Given the description of an element on the screen output the (x, y) to click on. 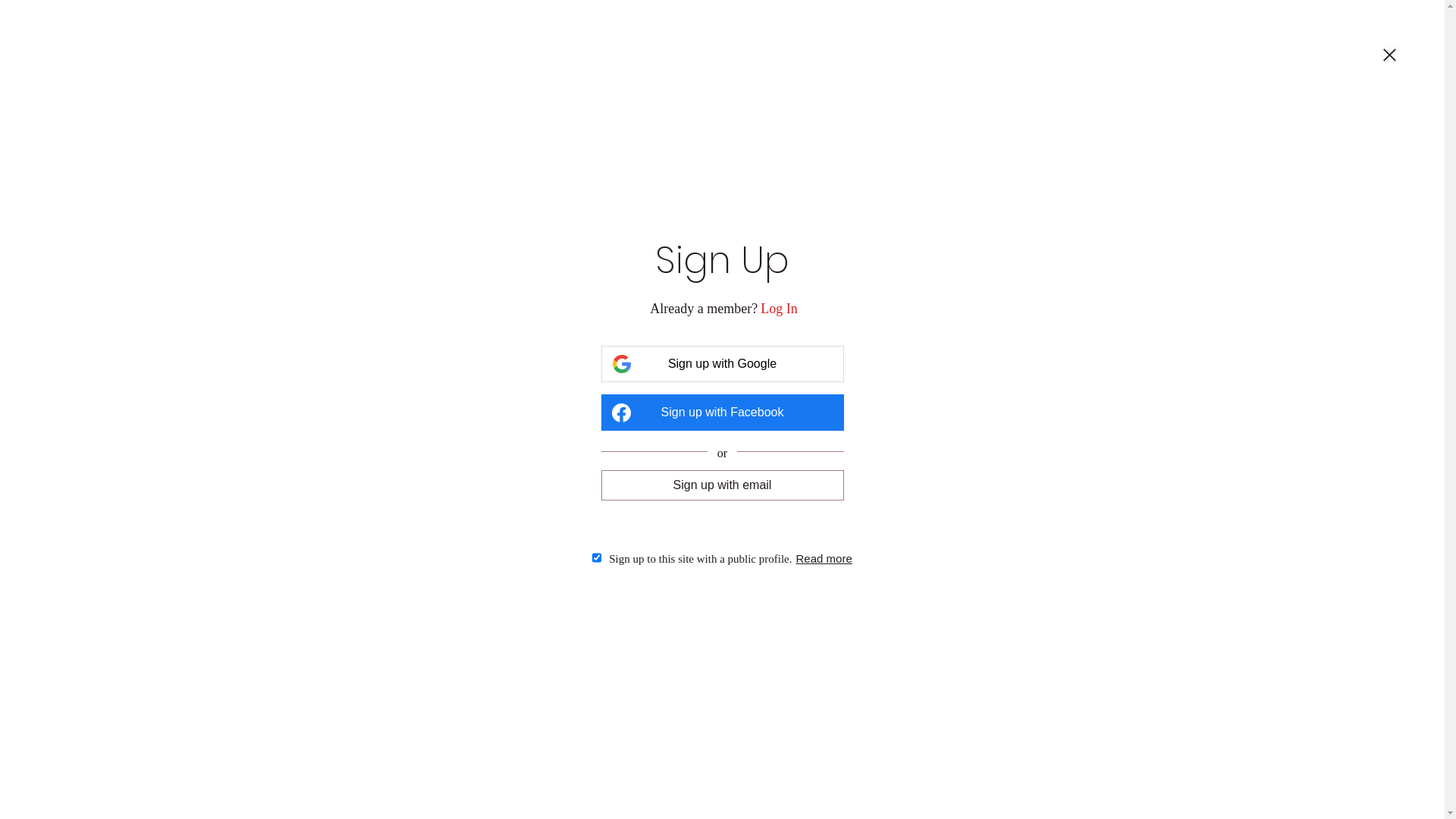
Log In Element type: text (778, 309)
Read more Element type: text (824, 558)
Sign up with Facebook Element type: text (721, 412)
Sign up with email Element type: text (721, 485)
Sign up with Google Element type: text (721, 363)
